Given the description of an element on the screen output the (x, y) to click on. 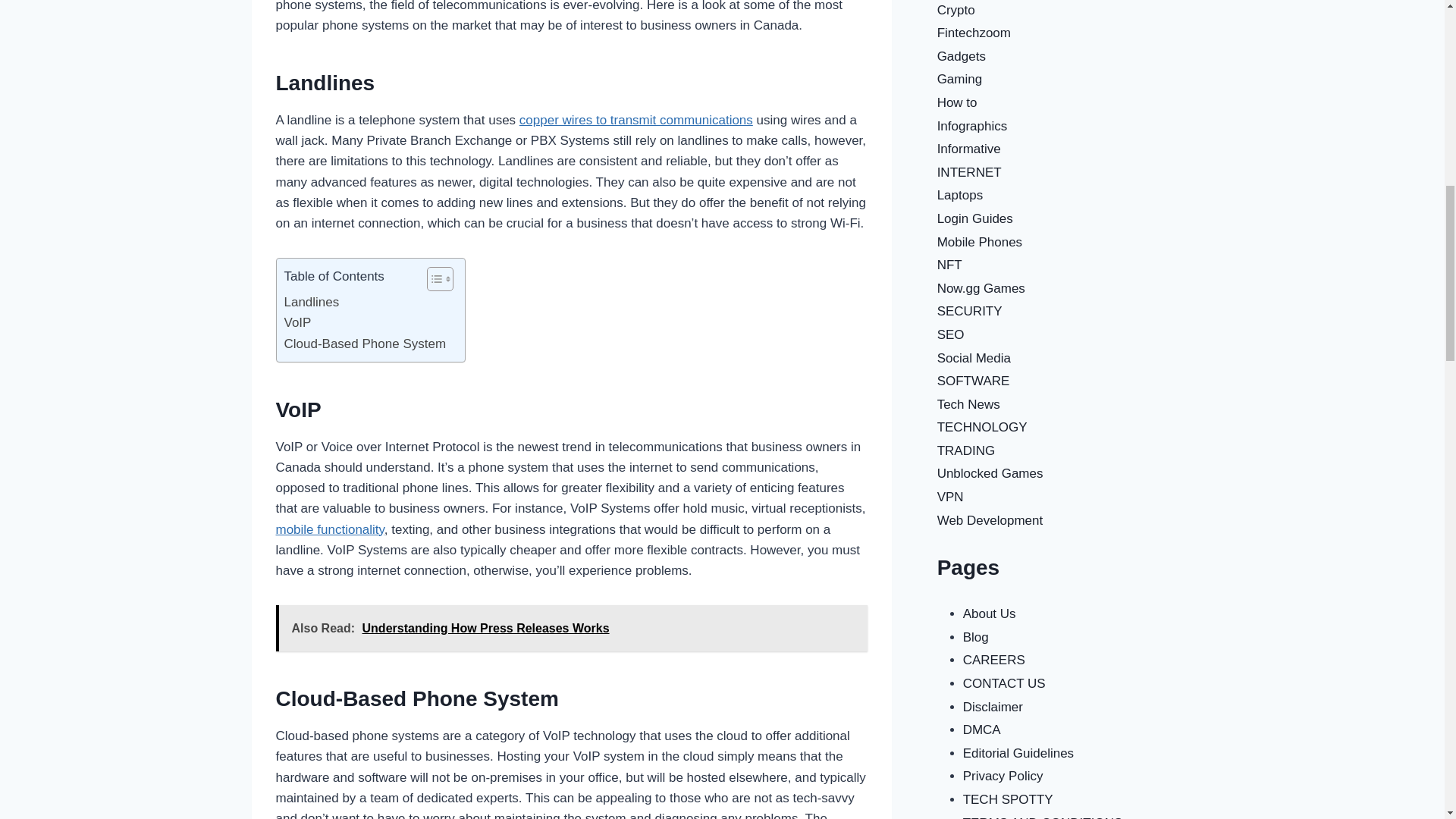
Landlines (311, 301)
VoIP (297, 322)
